Given the description of an element on the screen output the (x, y) to click on. 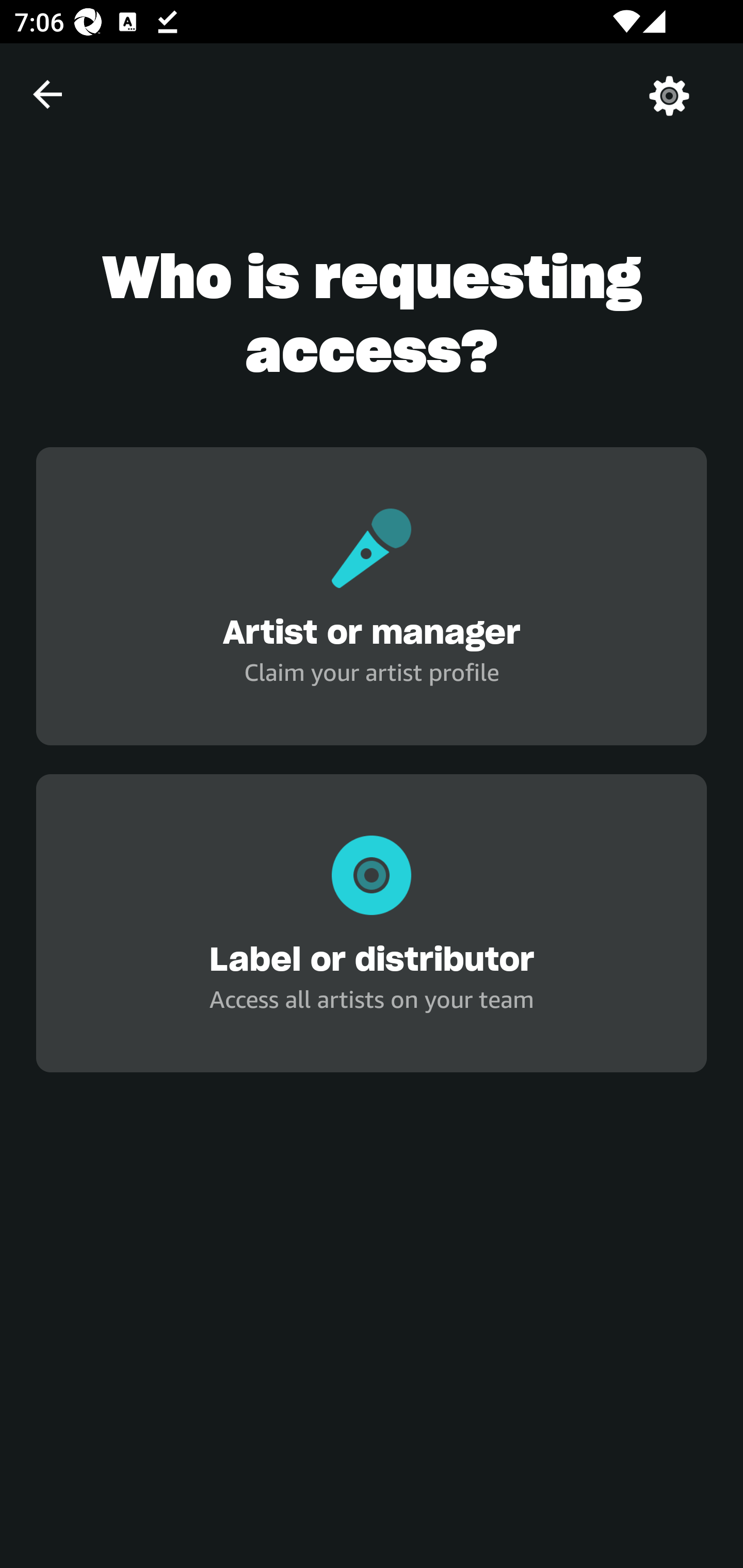
ArtistSelect, back (47, 93)
